Given the description of an element on the screen output the (x, y) to click on. 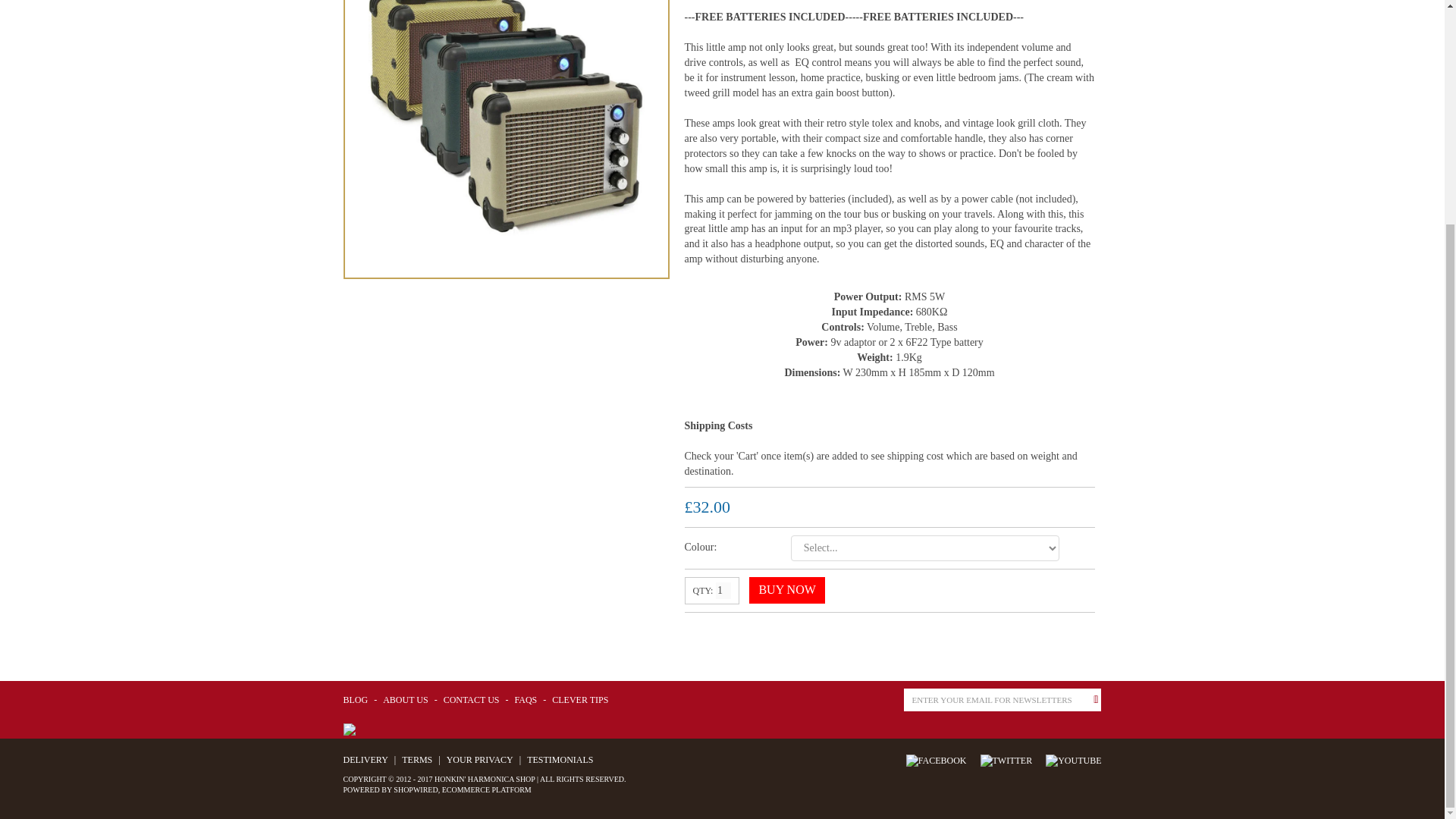
Share on Twitter (723, 631)
CONTACT US (469, 699)
DELIVERY (364, 759)
TESTIMONIALS (557, 759)
Pin It (750, 631)
YOUR PRIVACY (477, 759)
TERMS (414, 759)
ABOUT US (403, 699)
CLEVER TIPS (578, 699)
Share on Tumblr (777, 631)
1 (723, 590)
FAQS (524, 699)
BUY NOW (786, 590)
BLOG (355, 699)
ECOMMERCE PLATFORM (486, 789)
